Given the description of an element on the screen output the (x, y) to click on. 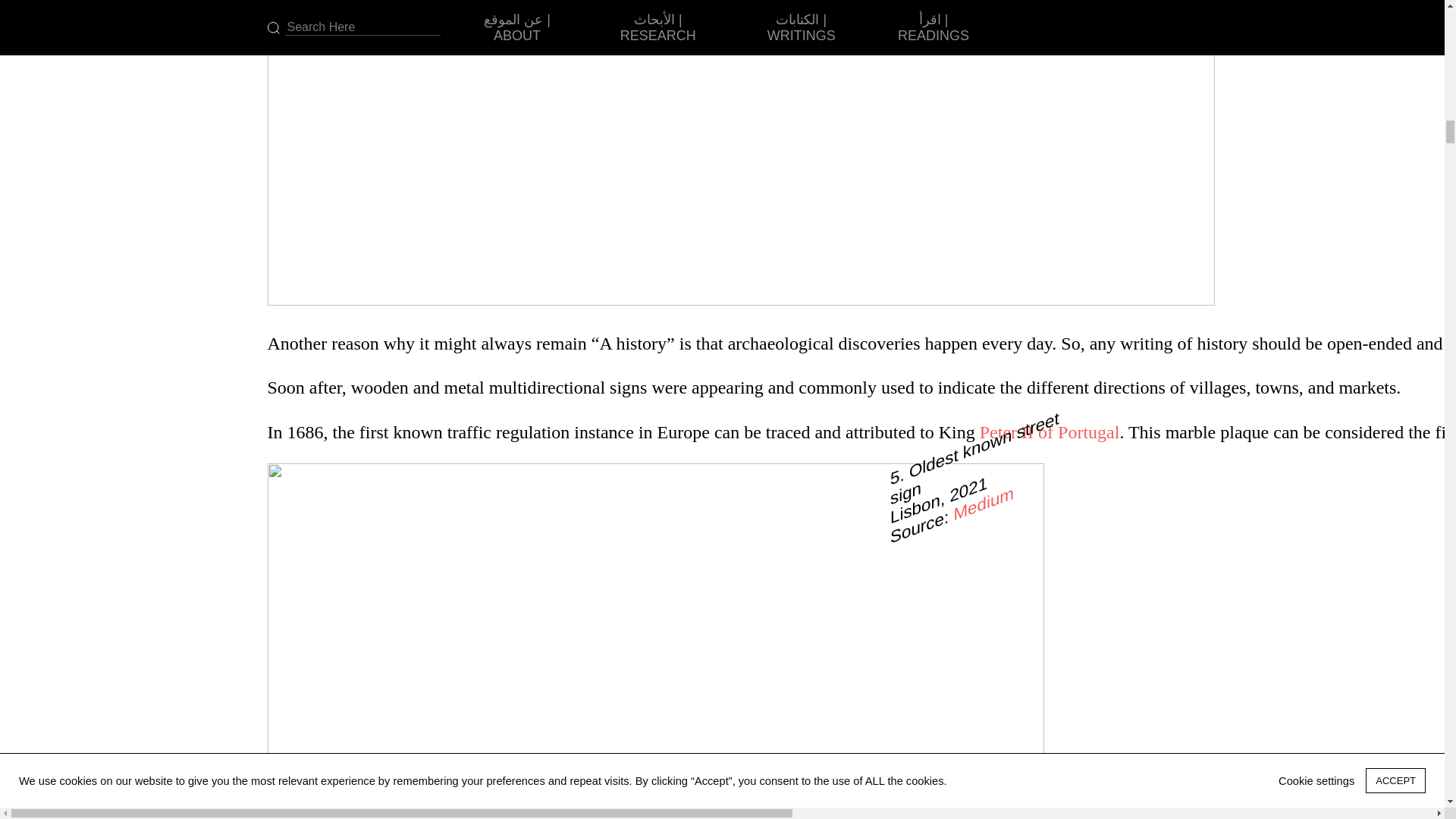
Peter II of Portugal (1049, 432)
Medium (983, 492)
